Given the description of an element on the screen output the (x, y) to click on. 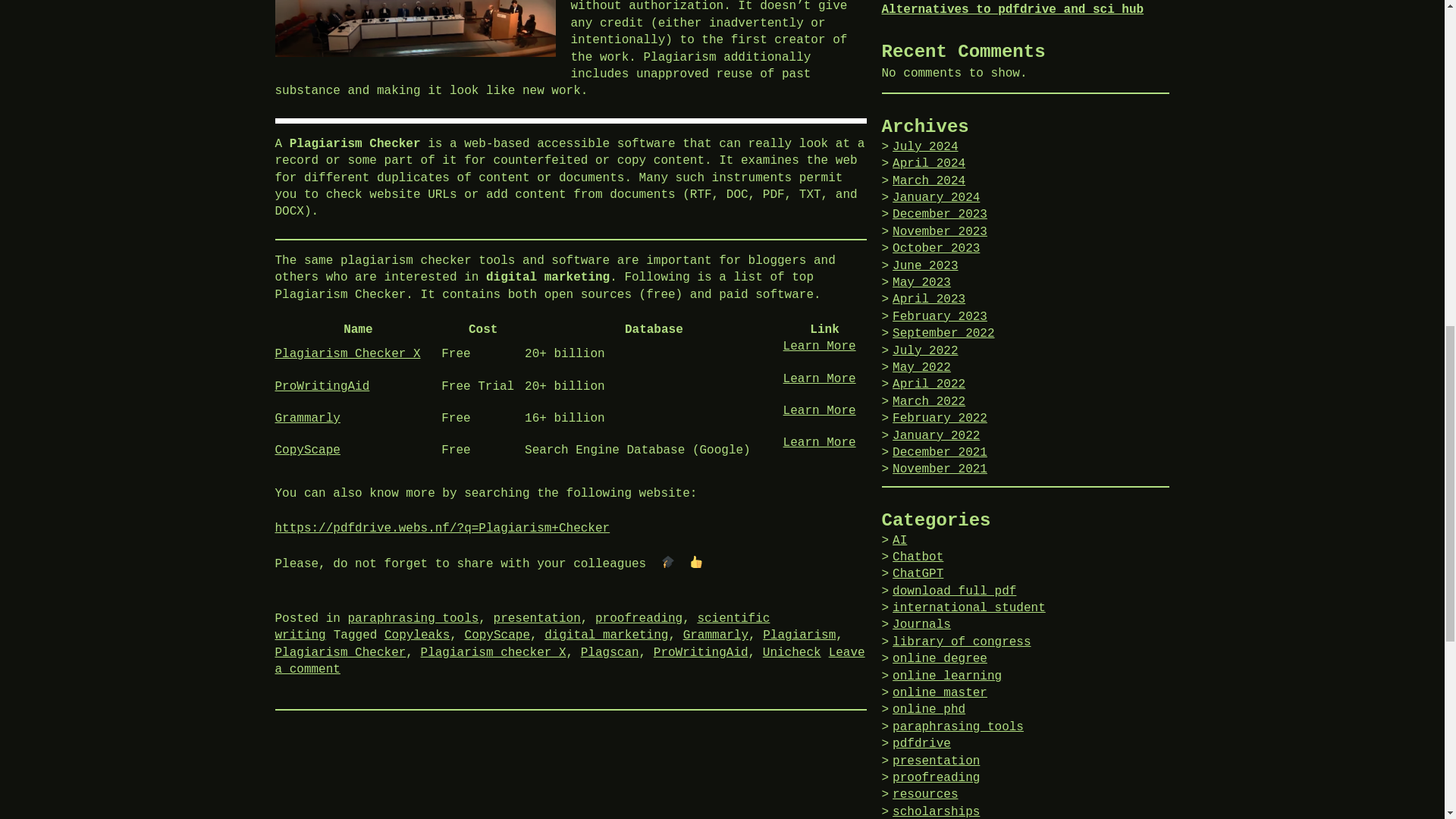
Copyleaks (416, 635)
presentation (536, 618)
Learn More (819, 442)
proofreading (638, 618)
ProWritingAid (322, 386)
Plagiarism Checker X (347, 354)
scientific writing (522, 626)
Learn More (819, 378)
Learn More (819, 345)
paraphrasing tools (413, 618)
